Given the description of an element on the screen output the (x, y) to click on. 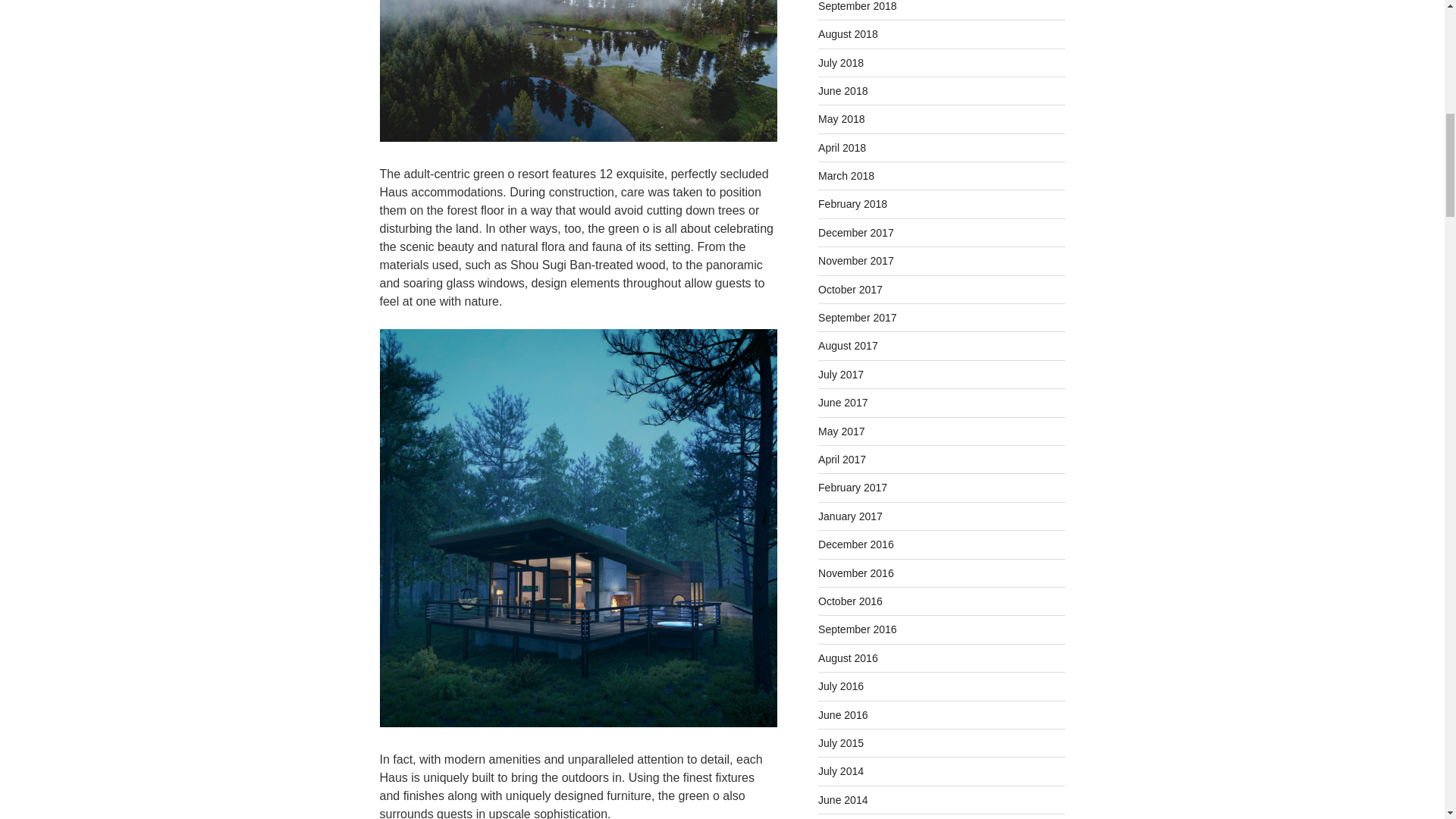
May 2018 (841, 119)
June 2018 (842, 91)
March 2018 (846, 175)
August 2018 (847, 33)
April 2018 (842, 147)
September 2018 (857, 6)
July 2018 (840, 62)
